Given the description of an element on the screen output the (x, y) to click on. 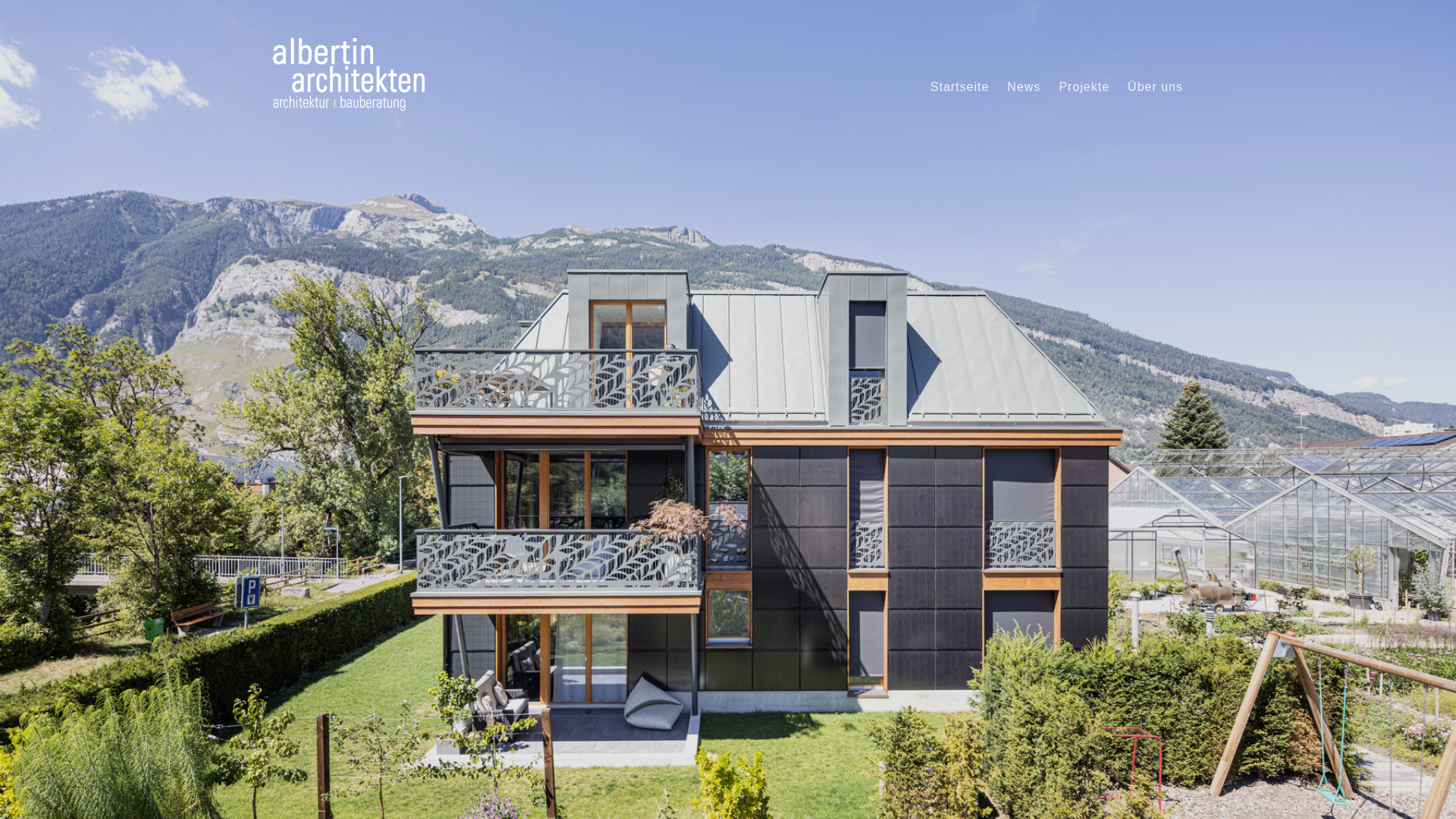
Startseite Element type: text (959, 87)
News Element type: text (1023, 87)
Projekte Element type: text (1083, 87)
